Given the description of an element on the screen output the (x, y) to click on. 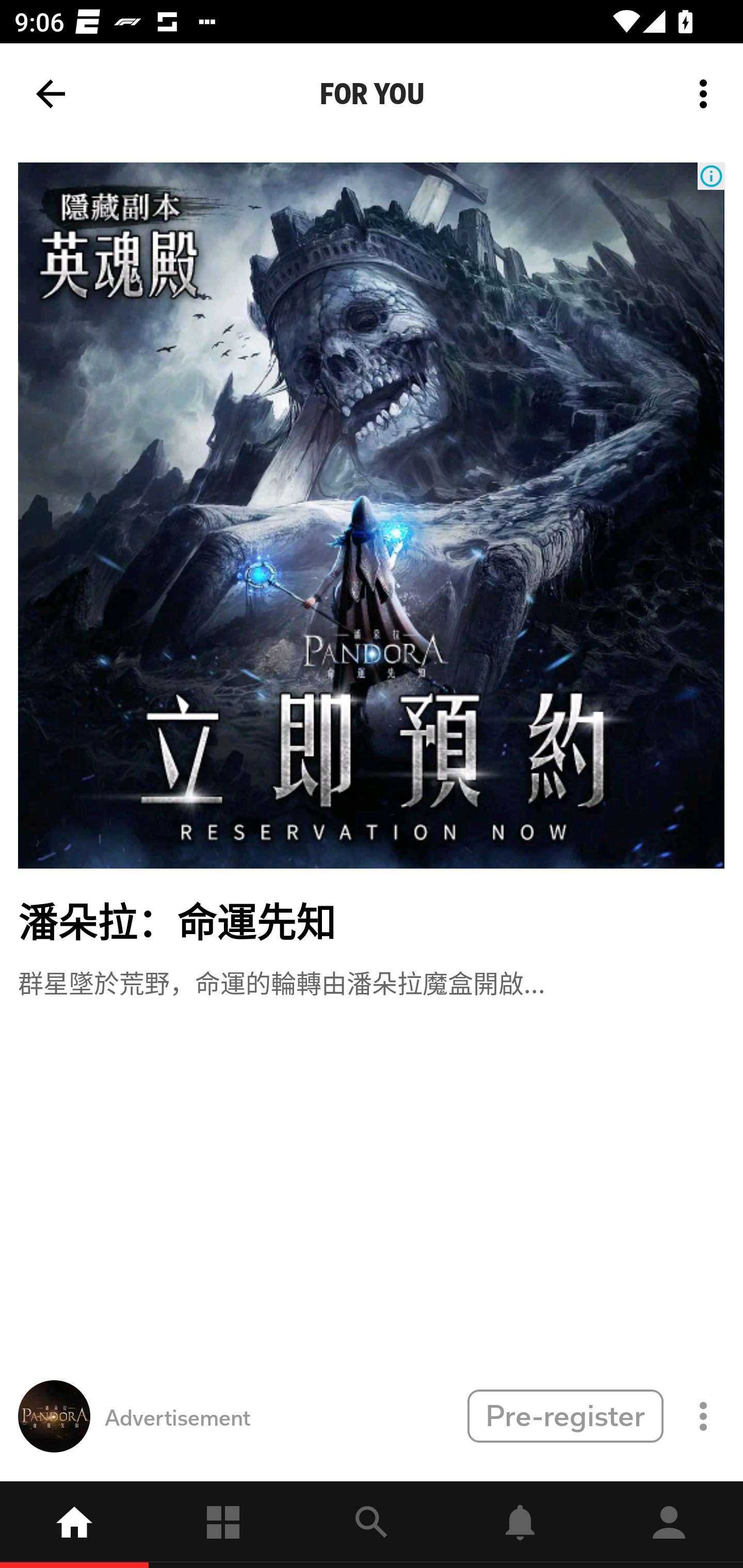
Back (50, 93)
FOR YOU (371, 93)
More options (706, 93)
Ad Choices Icon (711, 176)
群星墜於荒野，命運的輪轉由潘朵拉魔盒開啟... (281, 981)
Pre-register (565, 1415)
home (74, 1524)
Following (222, 1524)
explore (371, 1524)
Notifications (519, 1524)
Profile (668, 1524)
